Given the description of an element on the screen output the (x, y) to click on. 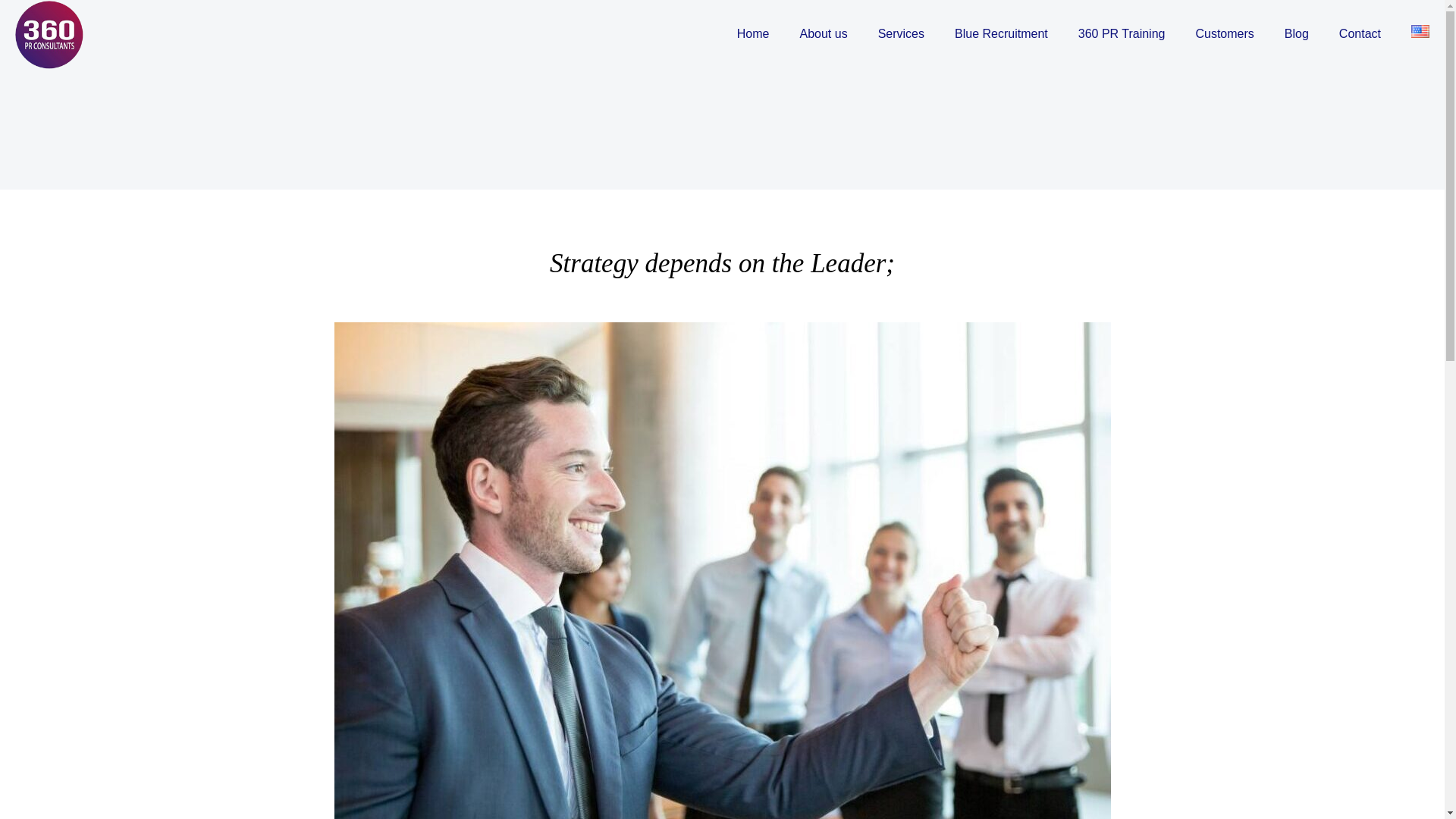
360 PR CONSULTANTS (48, 33)
Customers (1223, 33)
Blue Recruitment (1000, 33)
360 PR Training (1121, 33)
Services (901, 33)
Contact (1359, 33)
About us (822, 33)
Home (753, 33)
